Given the description of an element on the screen output the (x, y) to click on. 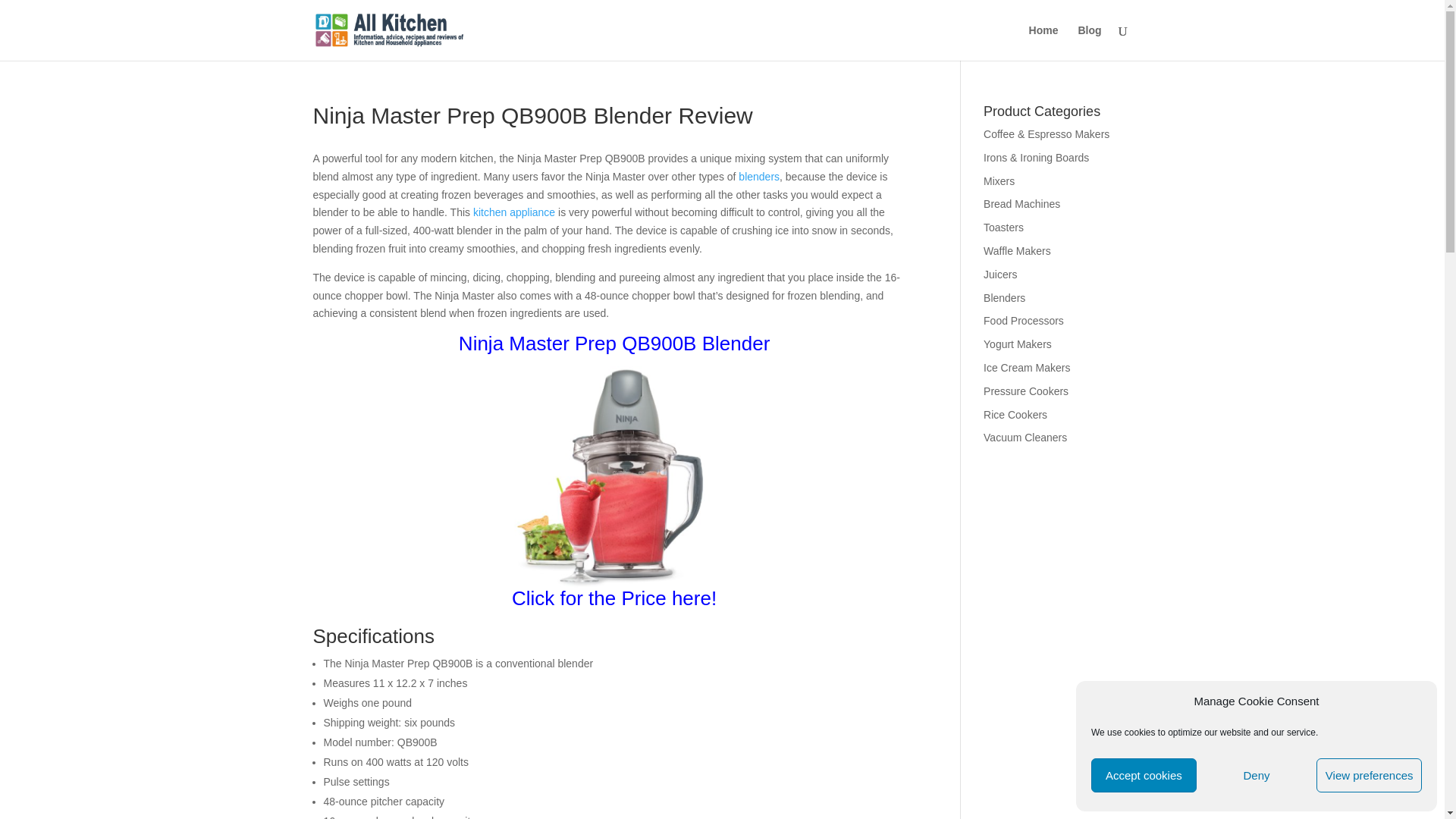
Choosing the Best Household Appliances (513, 212)
Juicers (1000, 274)
Toasters (1143, 775)
Bread Machines (1003, 227)
Deny (1021, 203)
blenders (1256, 775)
Blenders (758, 176)
Yogurt Makers (1004, 297)
